Given the description of an element on the screen output the (x, y) to click on. 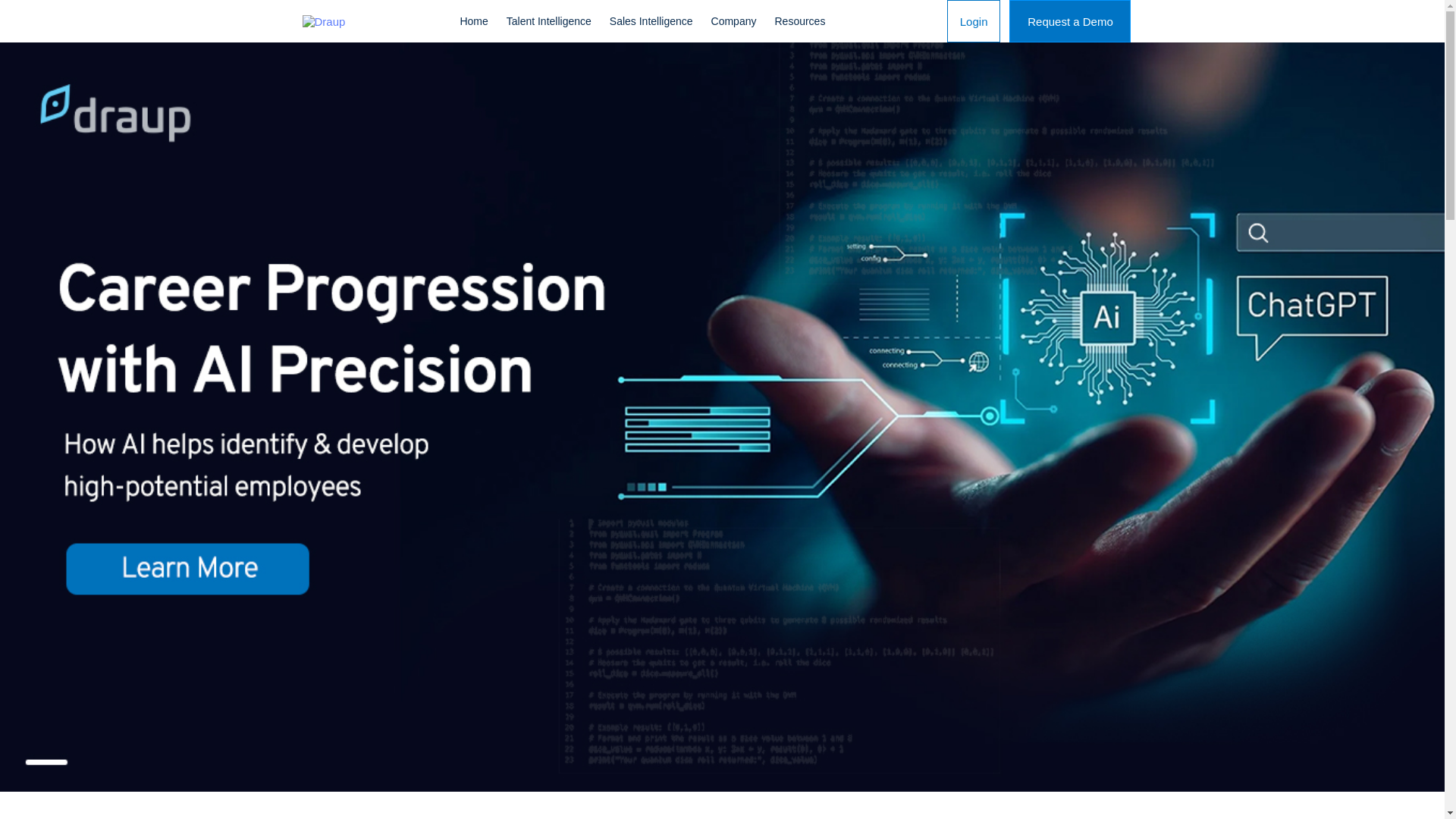
Login (974, 21)
Sales Intelligence (650, 21)
Home (472, 21)
Resources (799, 21)
Company (733, 21)
Talent Intelligence (548, 21)
Request a Demo (1070, 21)
